Given the description of an element on the screen output the (x, y) to click on. 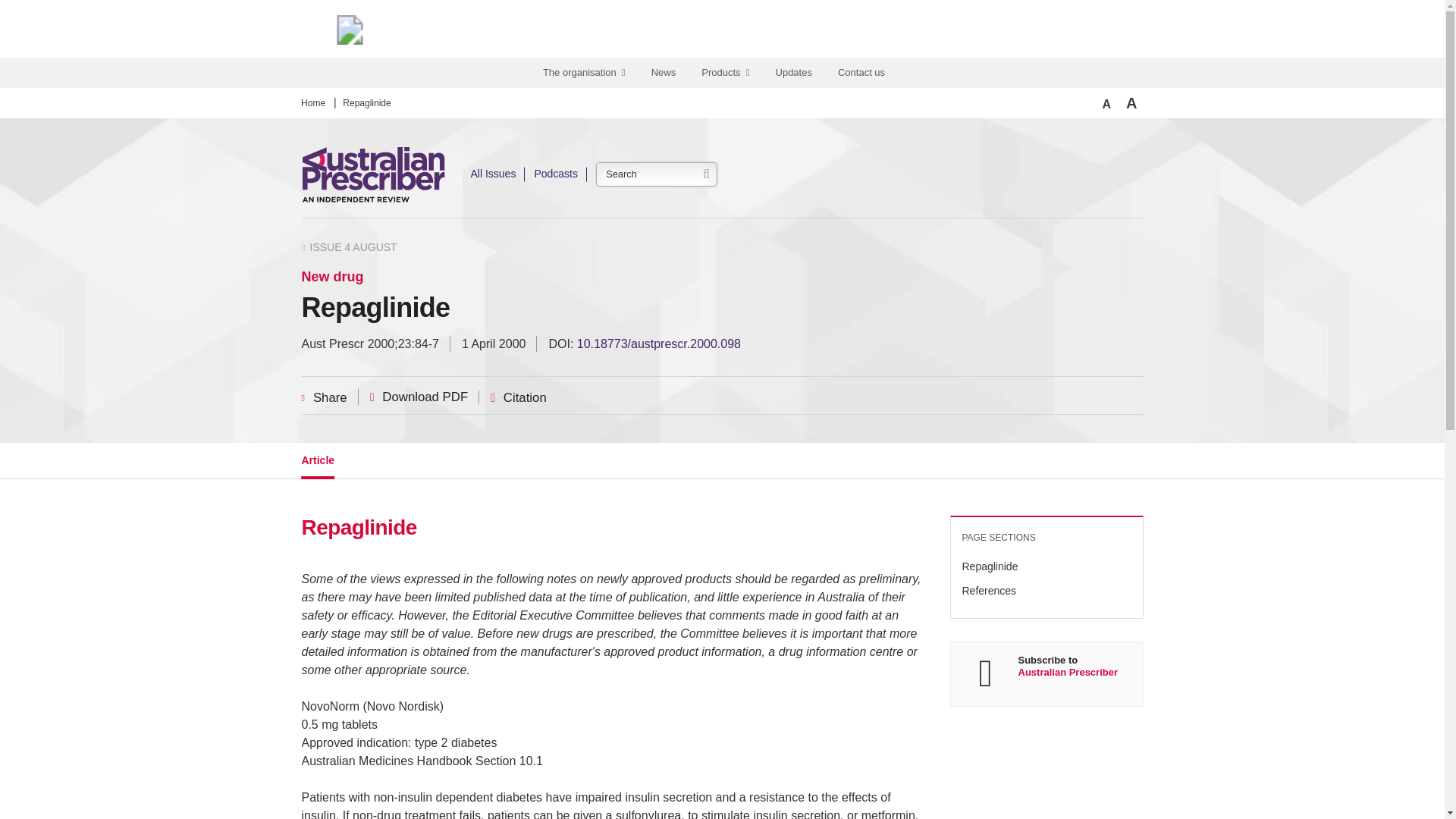
Home (313, 102)
Updates (796, 72)
Contact us (863, 72)
Repaglinide (366, 102)
A (1130, 103)
Contact us (863, 72)
The organisation (586, 72)
Products (727, 72)
Products  (727, 72)
ISSUE 4 AUGUST (349, 247)
News (665, 72)
Podcasts (556, 173)
Updates (796, 72)
News (665, 72)
The organisation  (586, 72)
